Given the description of an element on the screen output the (x, y) to click on. 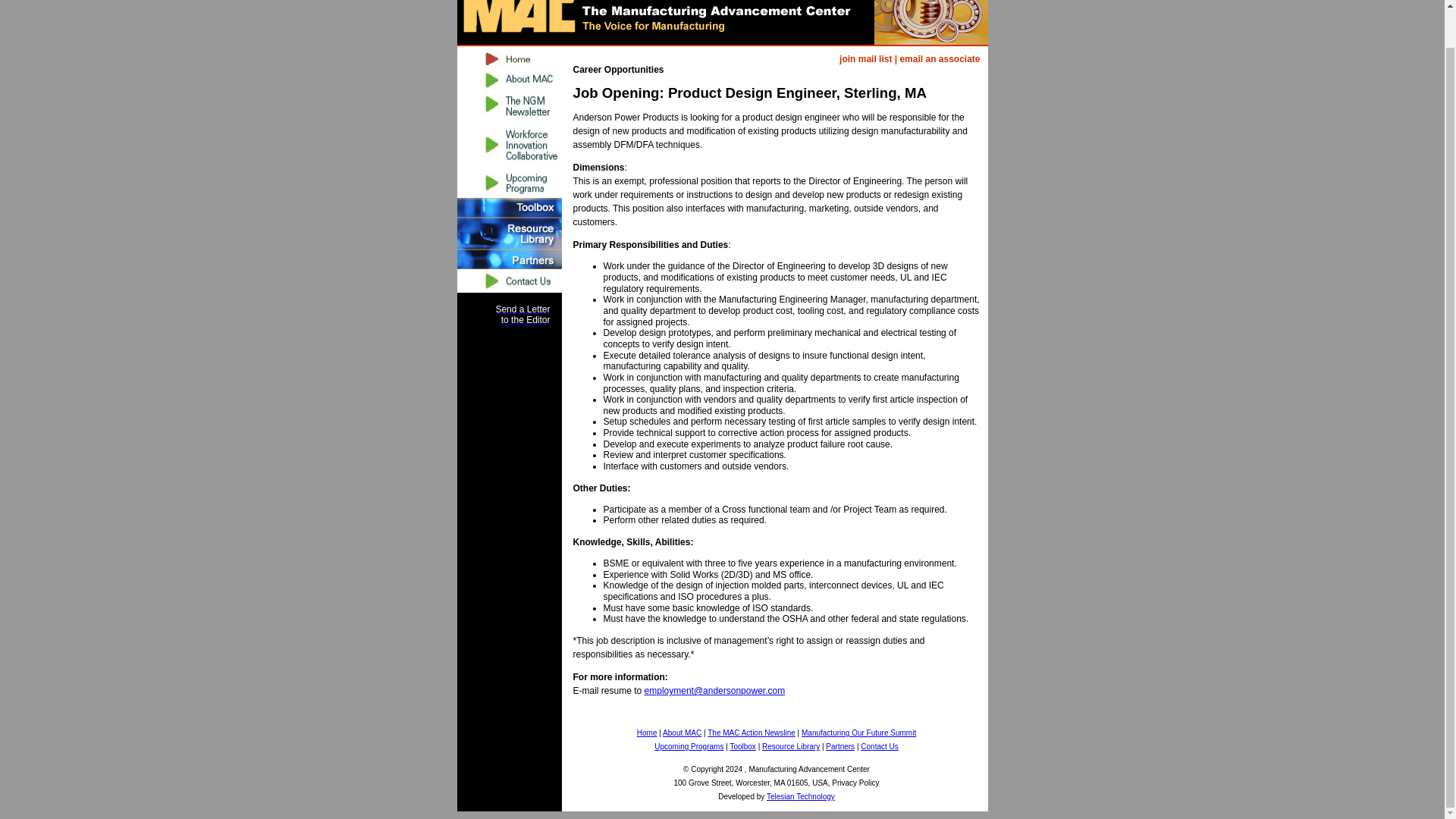
Telesian Technology (800, 796)
Home (647, 732)
Manufacturing Our Future Summit (858, 732)
Upcoming Programs (688, 746)
About MAC (681, 732)
email an associate (939, 59)
About MAC (508, 79)
About MAC (681, 732)
Email and Associate (939, 59)
Partners (508, 259)
